Given the description of an element on the screen output the (x, y) to click on. 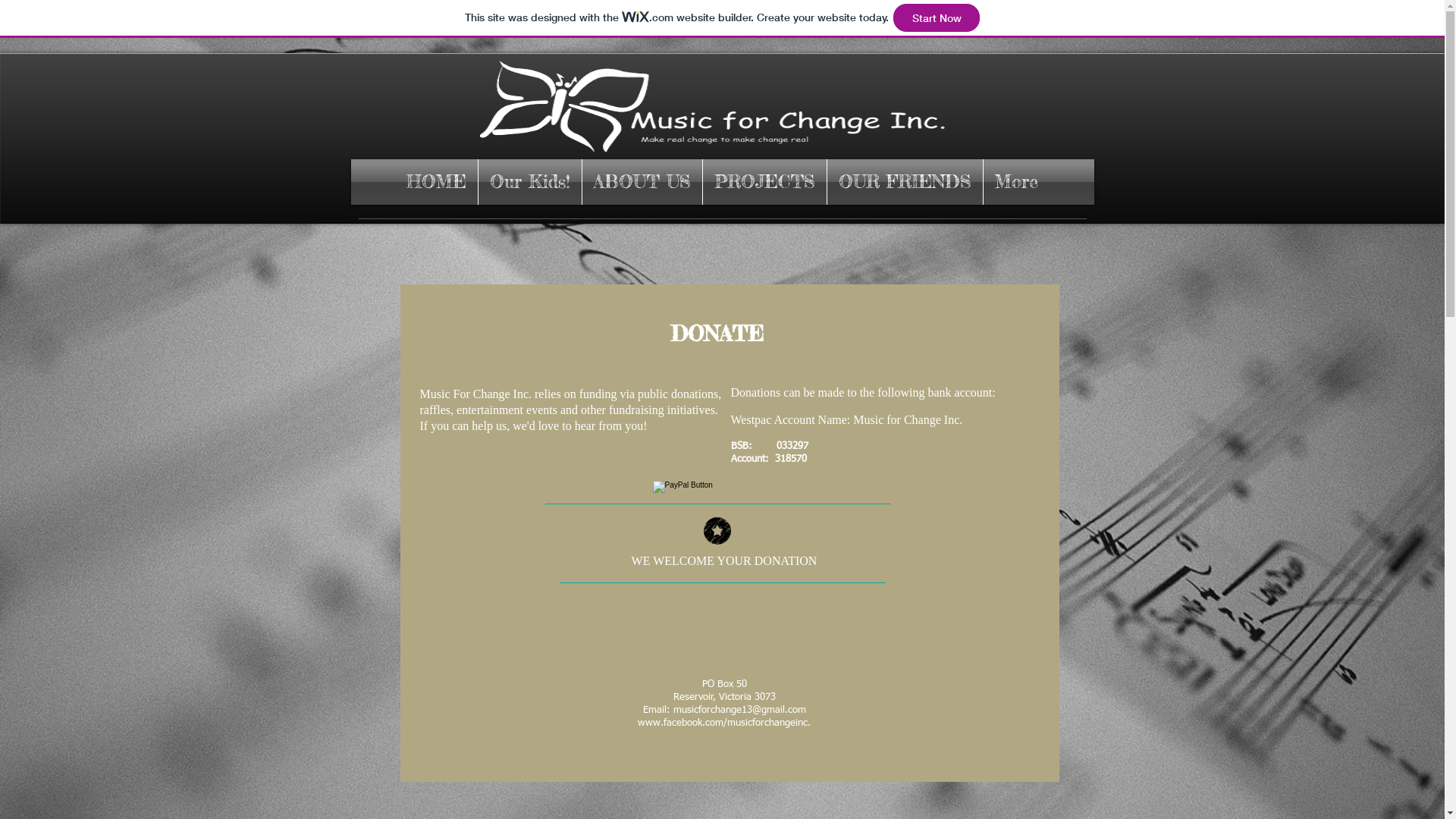
www.facebook.com/musicforchangeinc Element type: text (722, 722)
musicforchange13@gmail.com Element type: text (739, 710)
Twitter Follow Element type: hover (585, 236)
Facebook Like Element type: hover (446, 244)
PROJECTS Element type: text (764, 181)
Instagram Element type: hover (723, 621)
ABOUT US Element type: text (642, 181)
Our Kids! Element type: text (529, 181)
OUR FRIENDS Element type: text (904, 181)
Instagram Element type: hover (916, 319)
HOME Element type: text (436, 181)
